Given the description of an element on the screen output the (x, y) to click on. 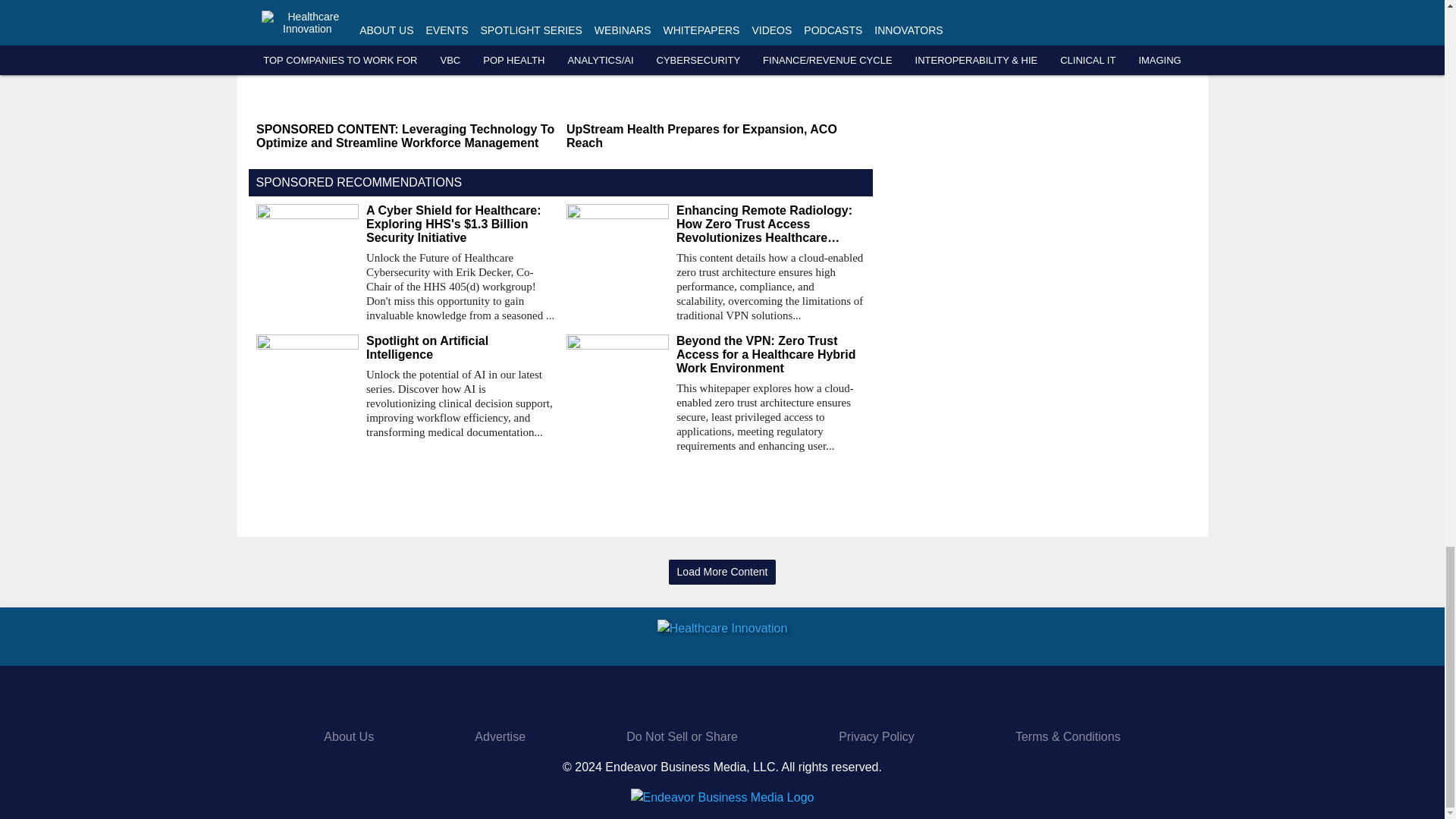
UpStream Health Prepares for Expansion, ACO Reach (715, 135)
Spotlight on Artificial Intelligence (459, 347)
